Given the description of an element on the screen output the (x, y) to click on. 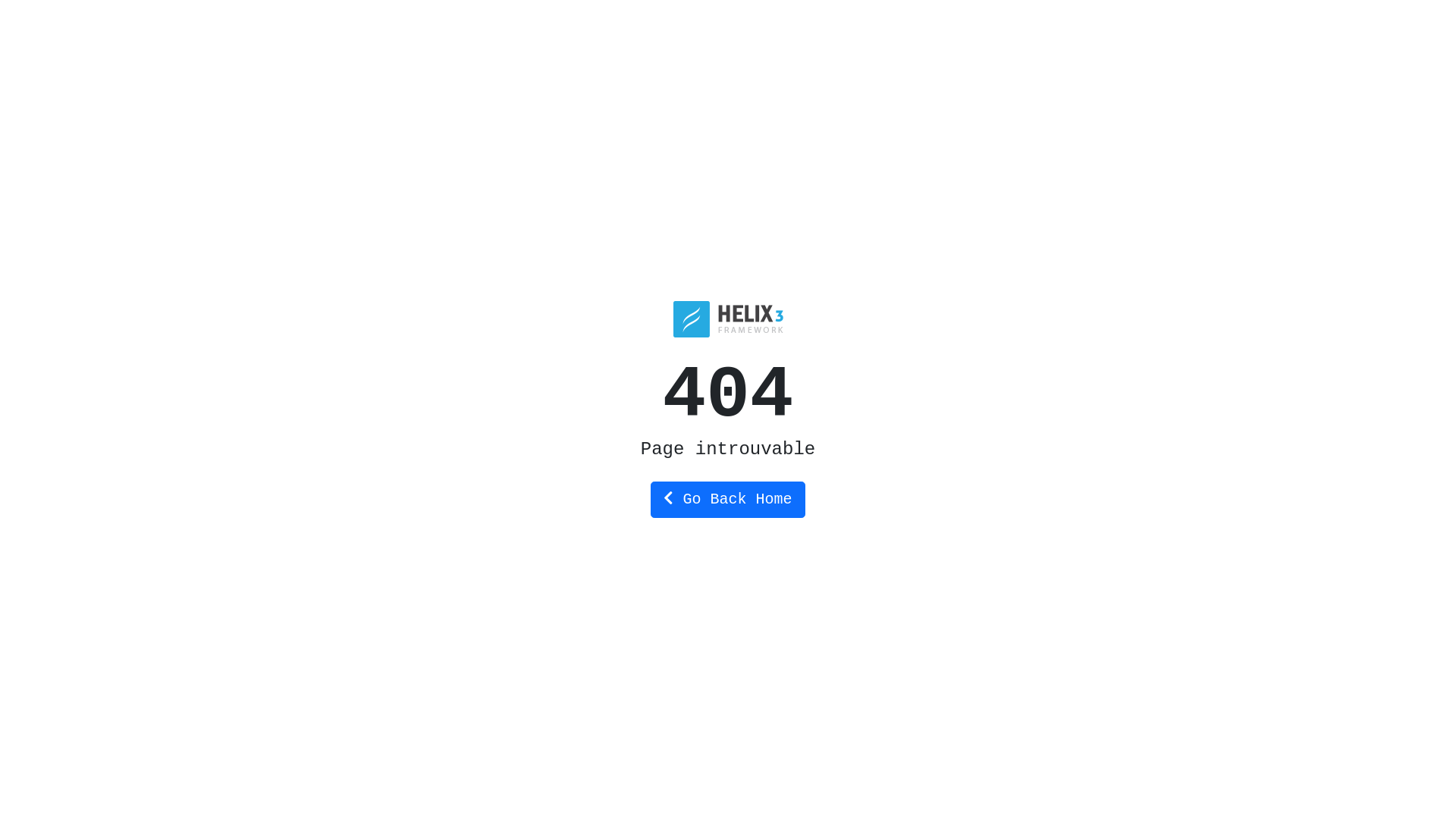
Go Back Home Element type: text (727, 499)
